Given the description of an element on the screen output the (x, y) to click on. 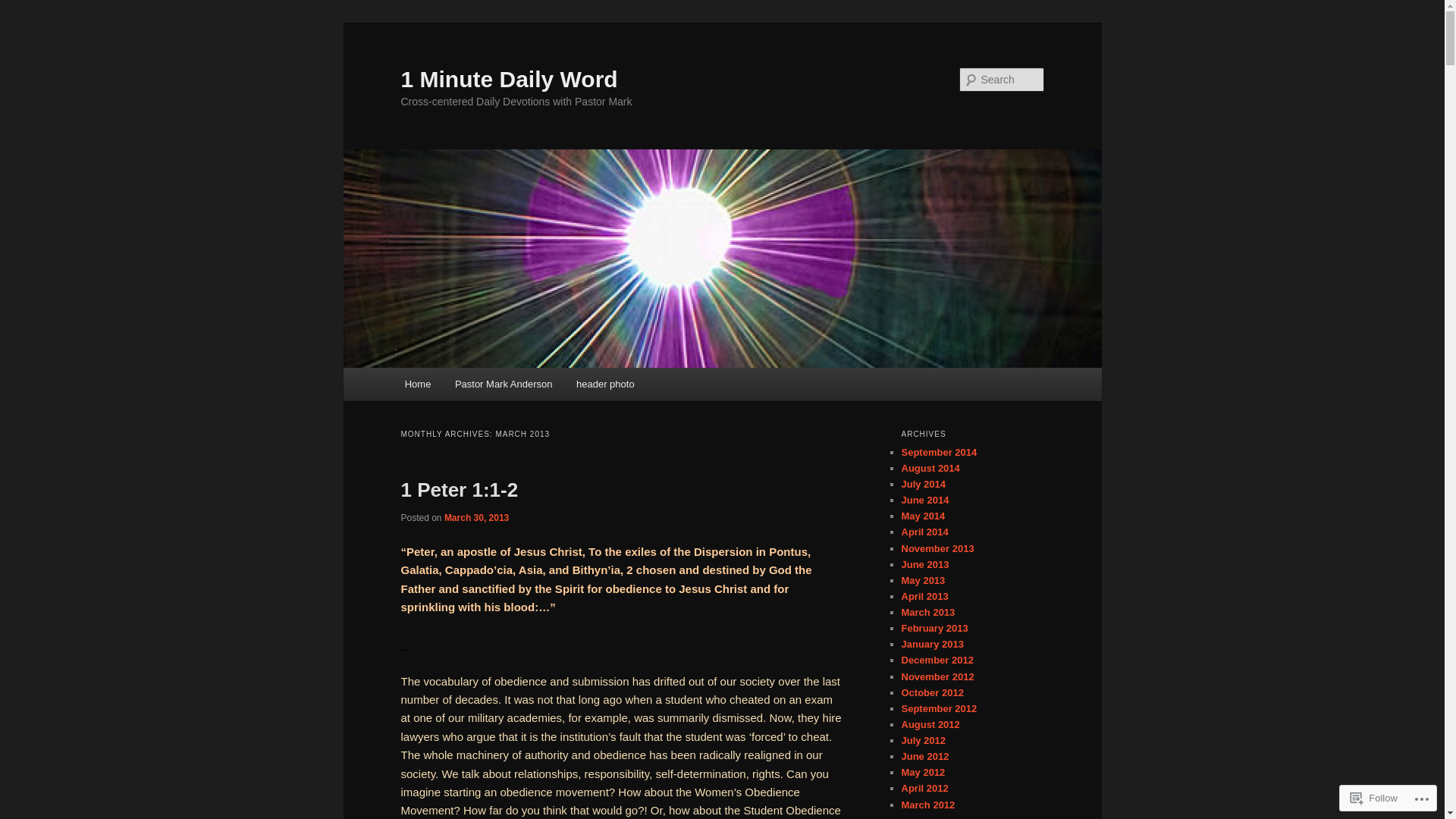
Skip to primary content Element type: text (22, 22)
August 2014 Element type: text (929, 467)
January 2013 Element type: text (931, 643)
March 30, 2013 Element type: text (476, 517)
Search Element type: text (24, 8)
Home Element type: text (417, 383)
February 2013 Element type: text (933, 627)
July 2014 Element type: text (922, 483)
June 2013 Element type: text (924, 564)
September 2014 Element type: text (938, 452)
June 2012 Element type: text (924, 756)
Pastor Mark Anderson Element type: text (503, 383)
May 2013 Element type: text (922, 580)
June 2014 Element type: text (924, 499)
October 2012 Element type: text (931, 692)
March 2013 Element type: text (927, 612)
July 2012 Element type: text (922, 740)
May 2014 Element type: text (922, 515)
1 Peter 1:1-2 Element type: text (458, 489)
header photo Element type: text (605, 383)
September 2012 Element type: text (938, 708)
April 2013 Element type: text (923, 596)
April 2014 Element type: text (923, 531)
1 Minute Daily Word Element type: text (508, 78)
November 2013 Element type: text (936, 548)
May 2012 Element type: text (922, 772)
Follow Element type: text (1373, 797)
March 2012 Element type: text (927, 804)
August 2012 Element type: text (929, 724)
December 2012 Element type: text (936, 659)
April 2012 Element type: text (923, 787)
November 2012 Element type: text (936, 676)
